Given the description of an element on the screen output the (x, y) to click on. 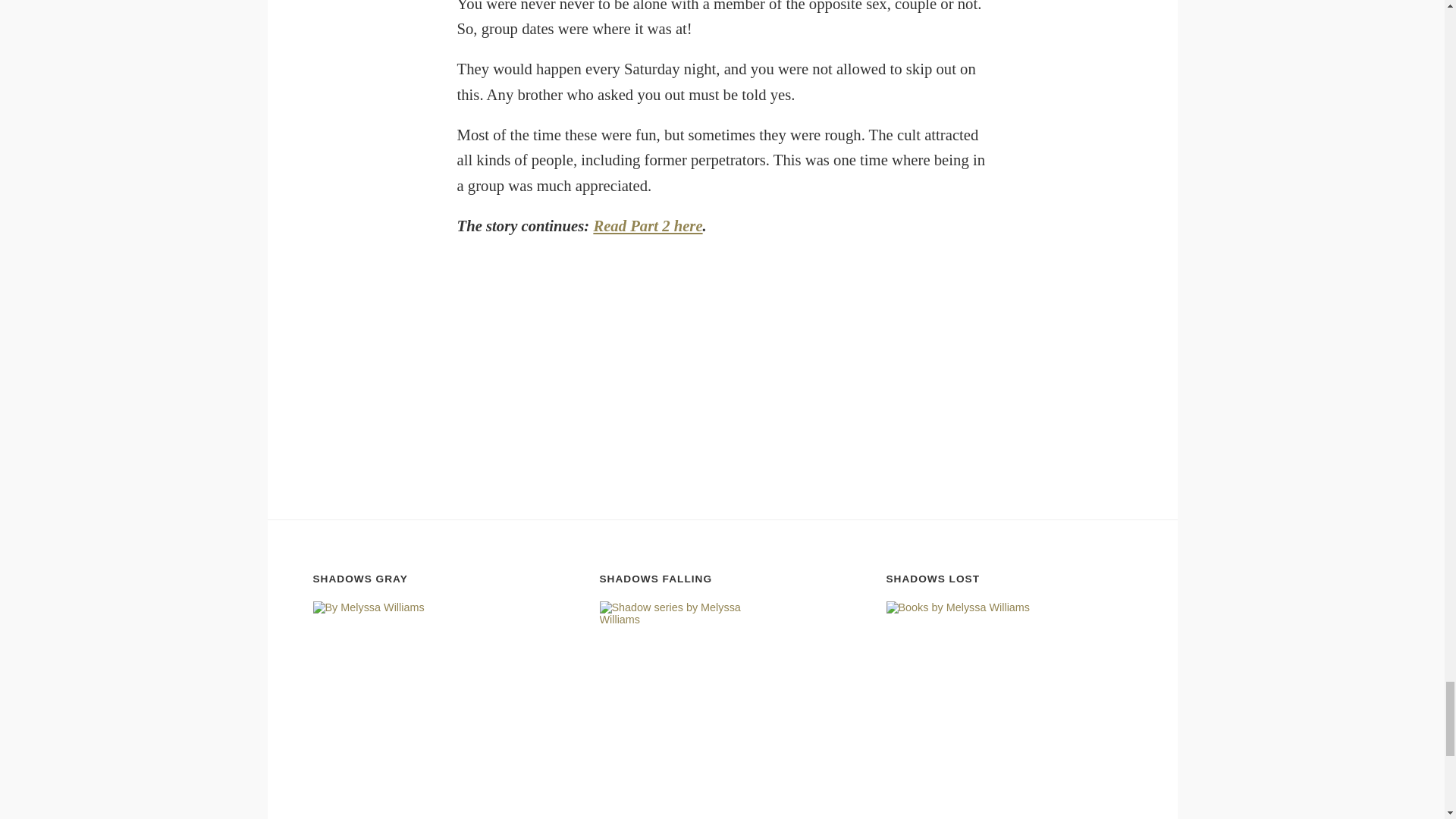
Read Part 2 here (646, 225)
